Given the description of an element on the screen output the (x, y) to click on. 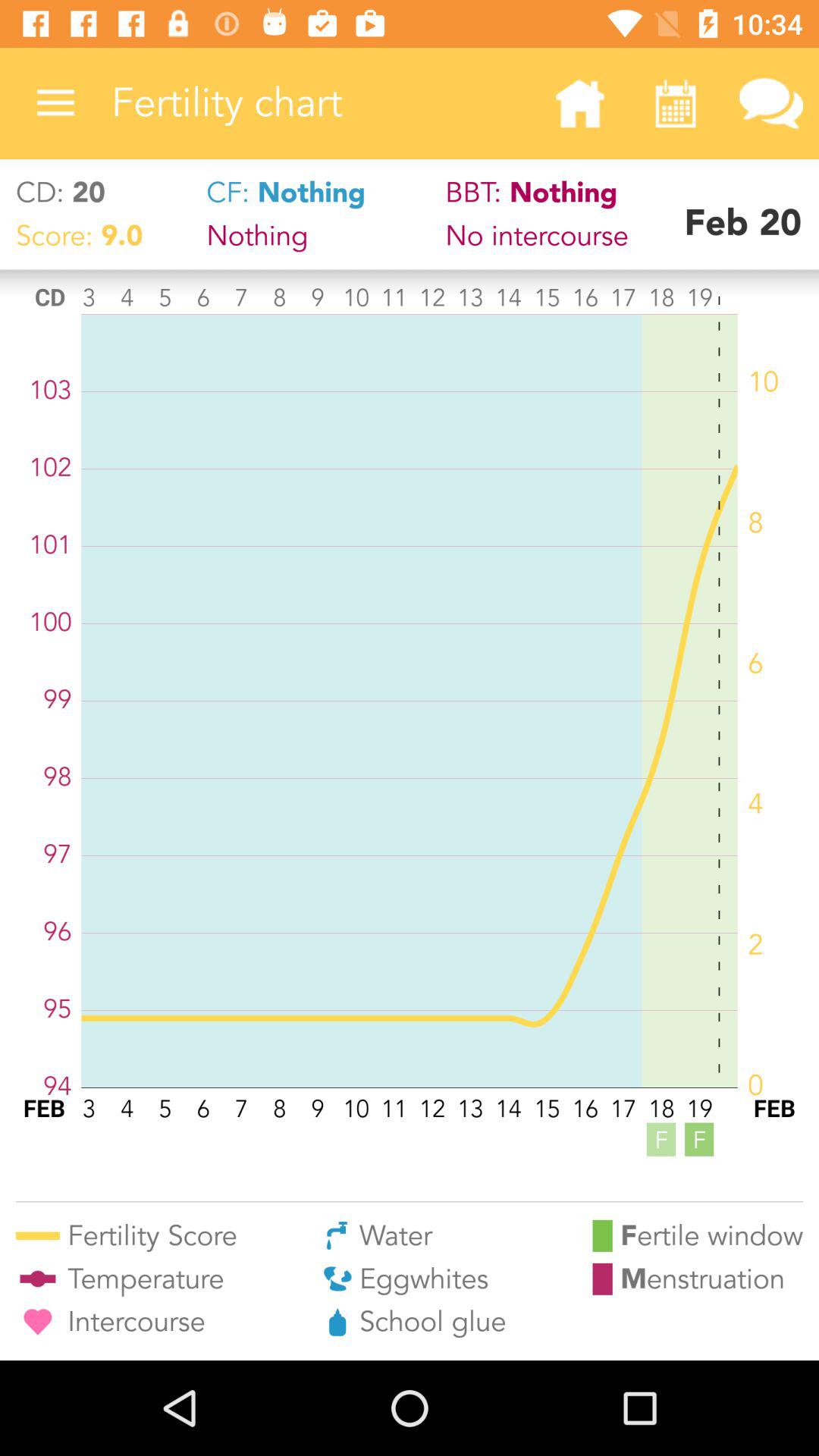
choose the item next to fertility chart icon (55, 103)
